Given the description of an element on the screen output the (x, y) to click on. 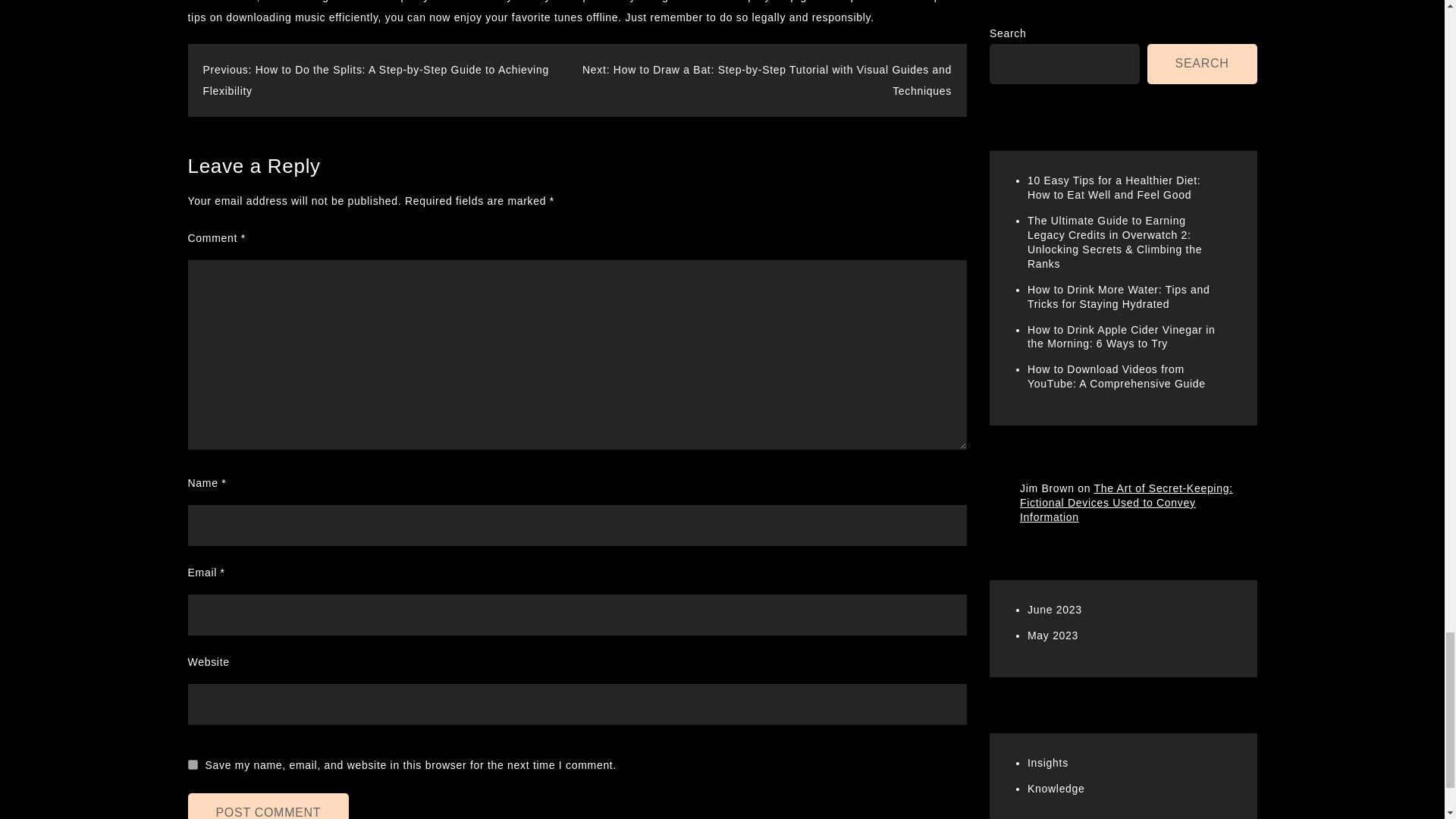
yes (192, 764)
Post Comment (268, 806)
Post Comment (268, 806)
